Given the description of an element on the screen output the (x, y) to click on. 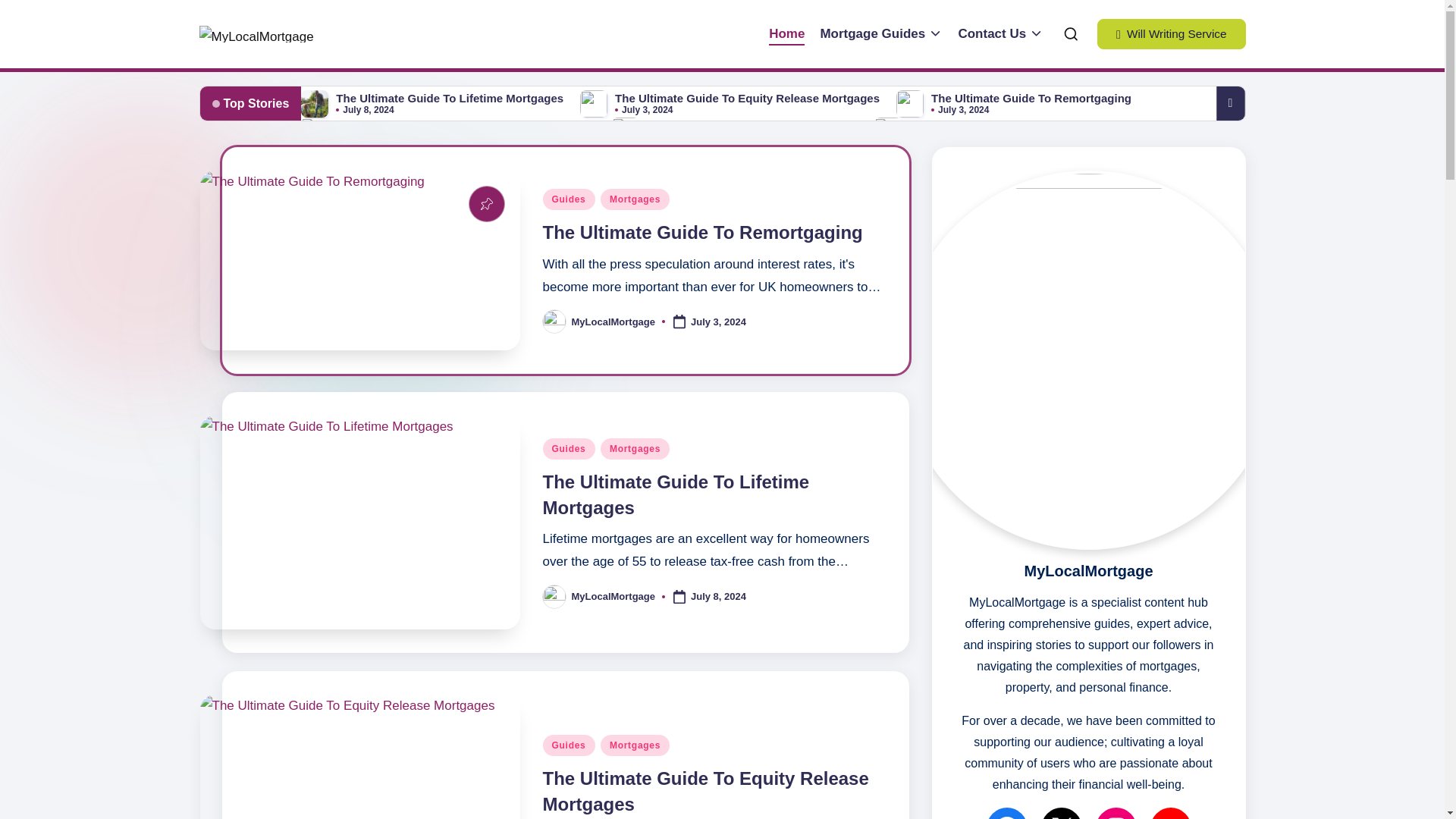
Home (786, 33)
Mortgage Guides (880, 33)
The Ultimate Guide To Remortgaging (703, 231)
The Ultimate Guide To Remortgaging (1031, 97)
What are the risks of equity release mortgages? (465, 124)
View all posts by MyLocalMortgage (614, 321)
Contact Us (1000, 33)
Repayment vs Interest Only Mortgages (751, 124)
Featured (486, 203)
View all posts by MyLocalMortgage (614, 595)
